Given the description of an element on the screen output the (x, y) to click on. 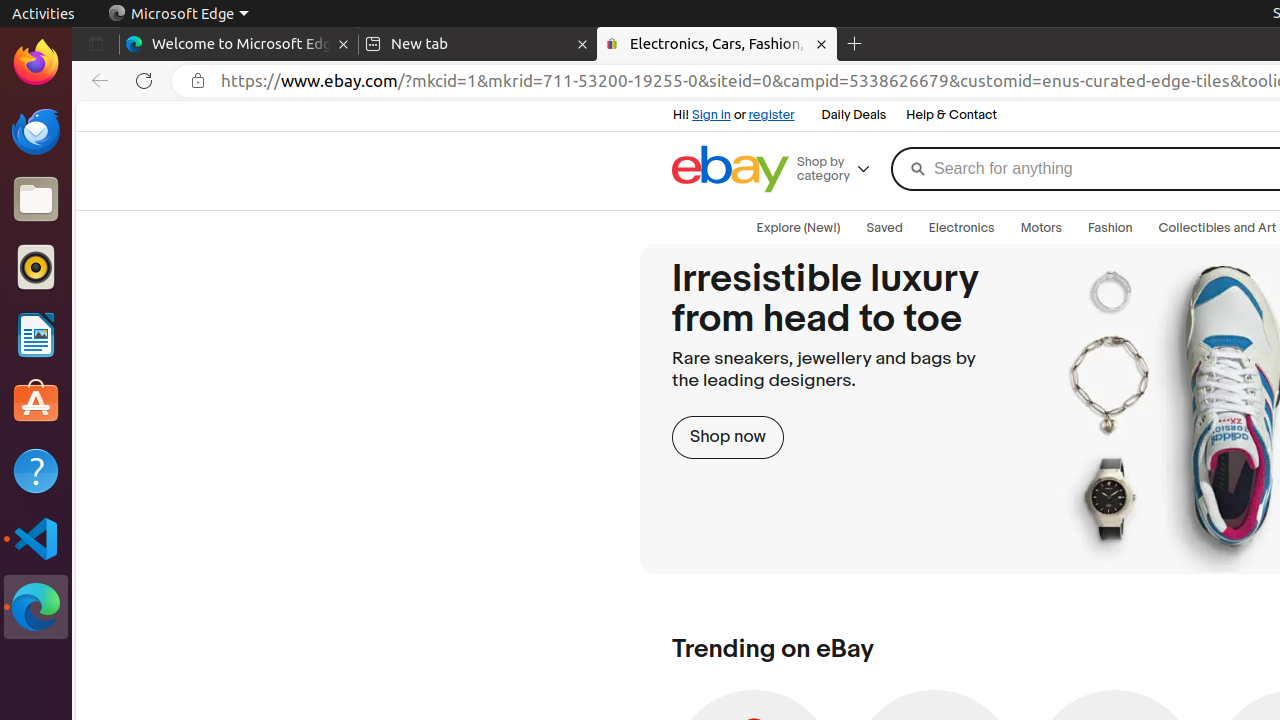
Help Element type: push-button (36, 470)
Microsoft Edge Element type: menu (178, 13)
Fashion Element type: link (1110, 228)
Files Element type: push-button (36, 199)
eBay Home Element type: link (730, 169)
